Given the description of an element on the screen output the (x, y) to click on. 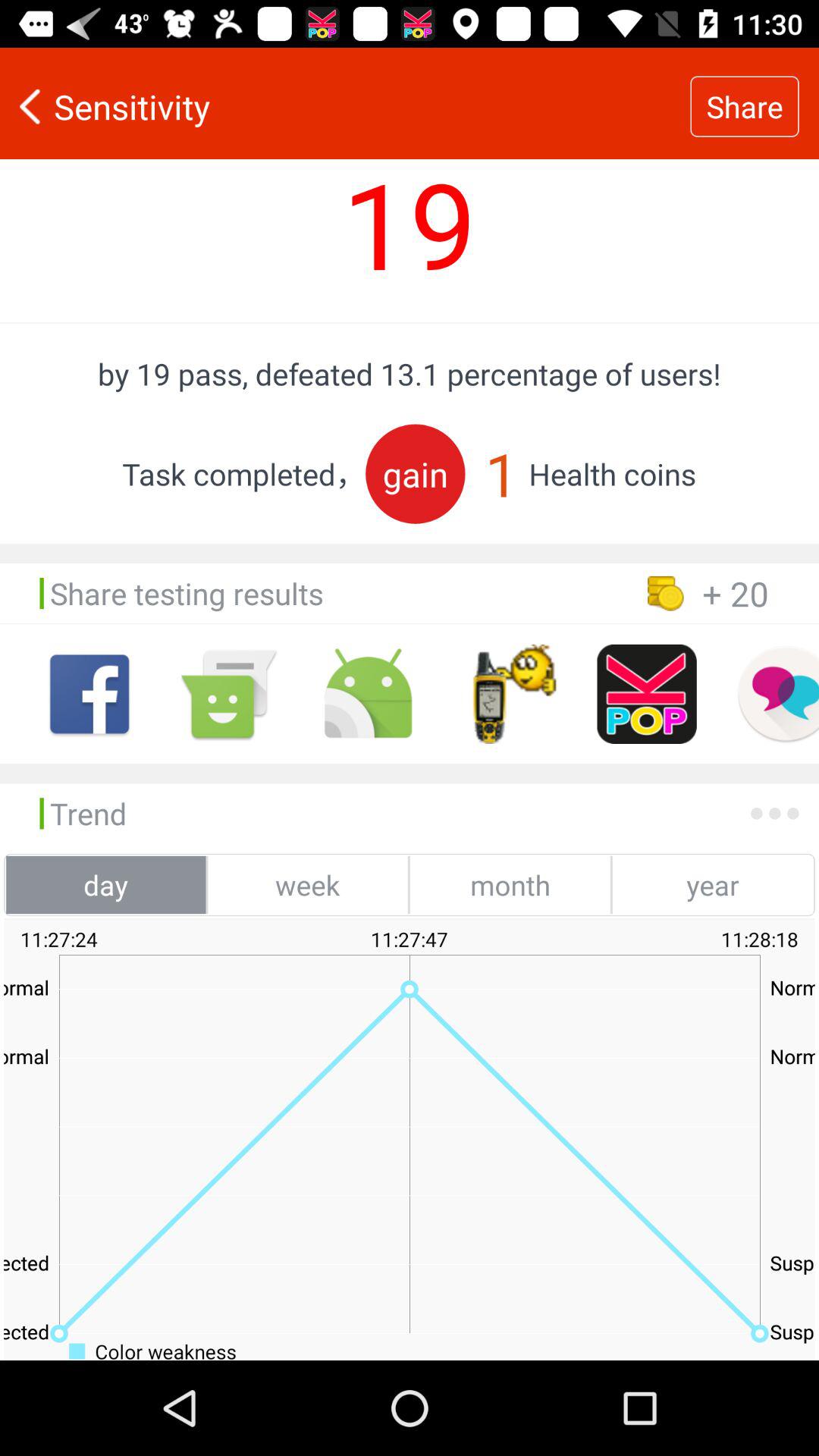
share testing result on platform (646, 693)
